Given the description of an element on the screen output the (x, y) to click on. 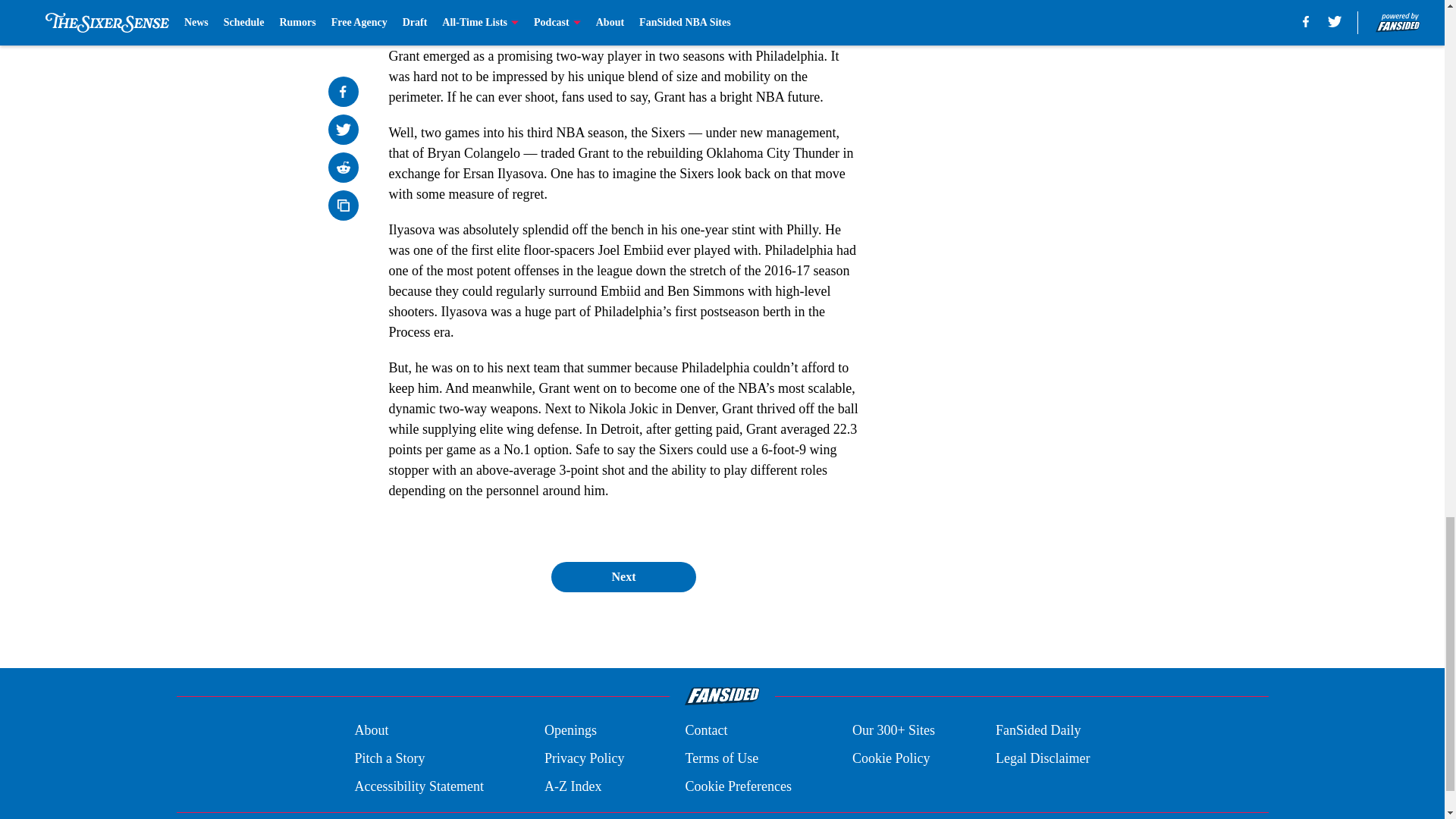
Openings (570, 730)
Privacy Policy (584, 758)
Contact (705, 730)
Terms of Use (721, 758)
Next (622, 576)
Legal Disclaimer (1042, 758)
Accessibility Statement (418, 786)
About (370, 730)
Pitch a Story (389, 758)
FanSided Daily (1038, 730)
